Given the description of an element on the screen output the (x, y) to click on. 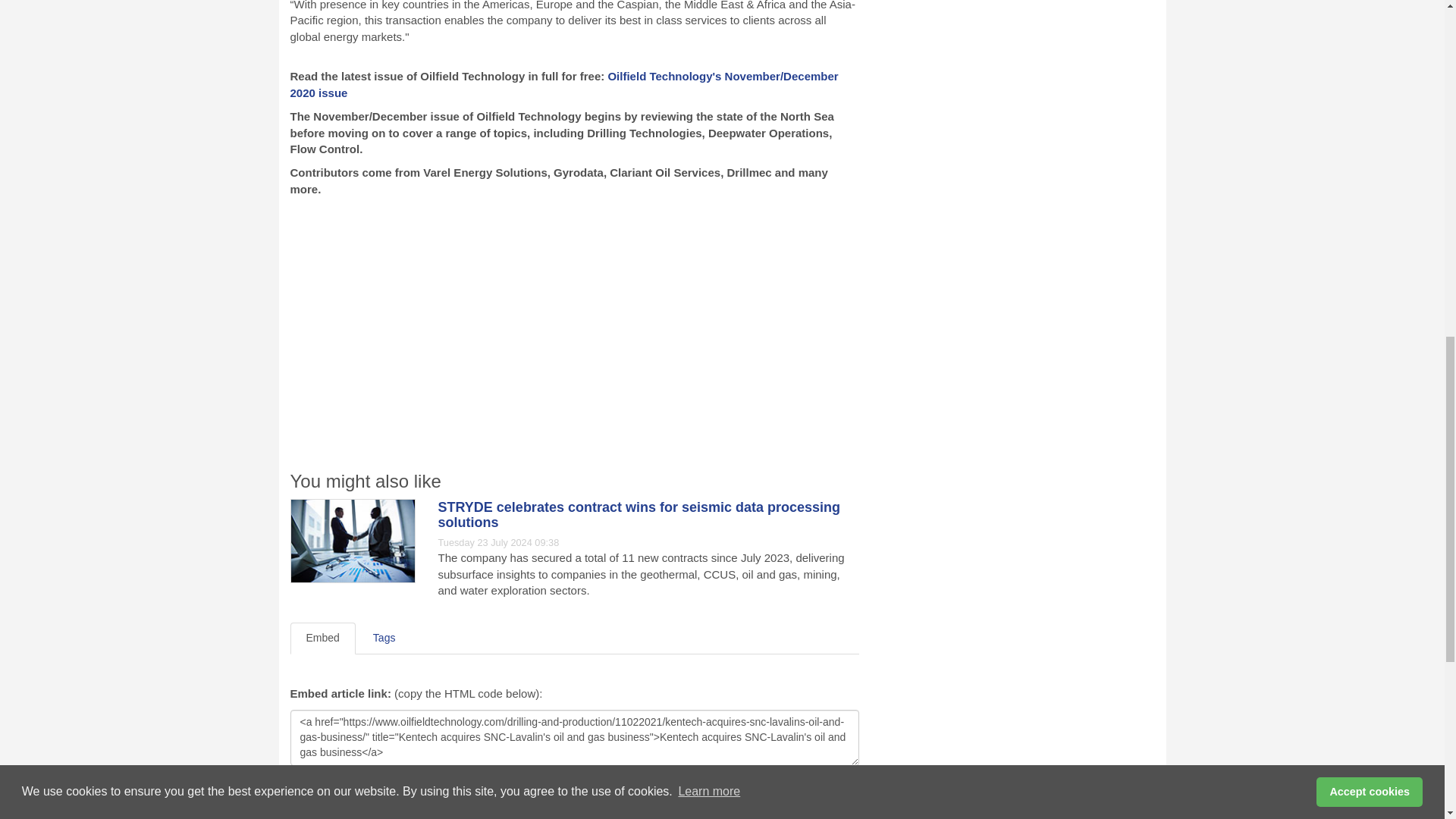
Embed (322, 638)
Tags (384, 638)
